Given the description of an element on the screen output the (x, y) to click on. 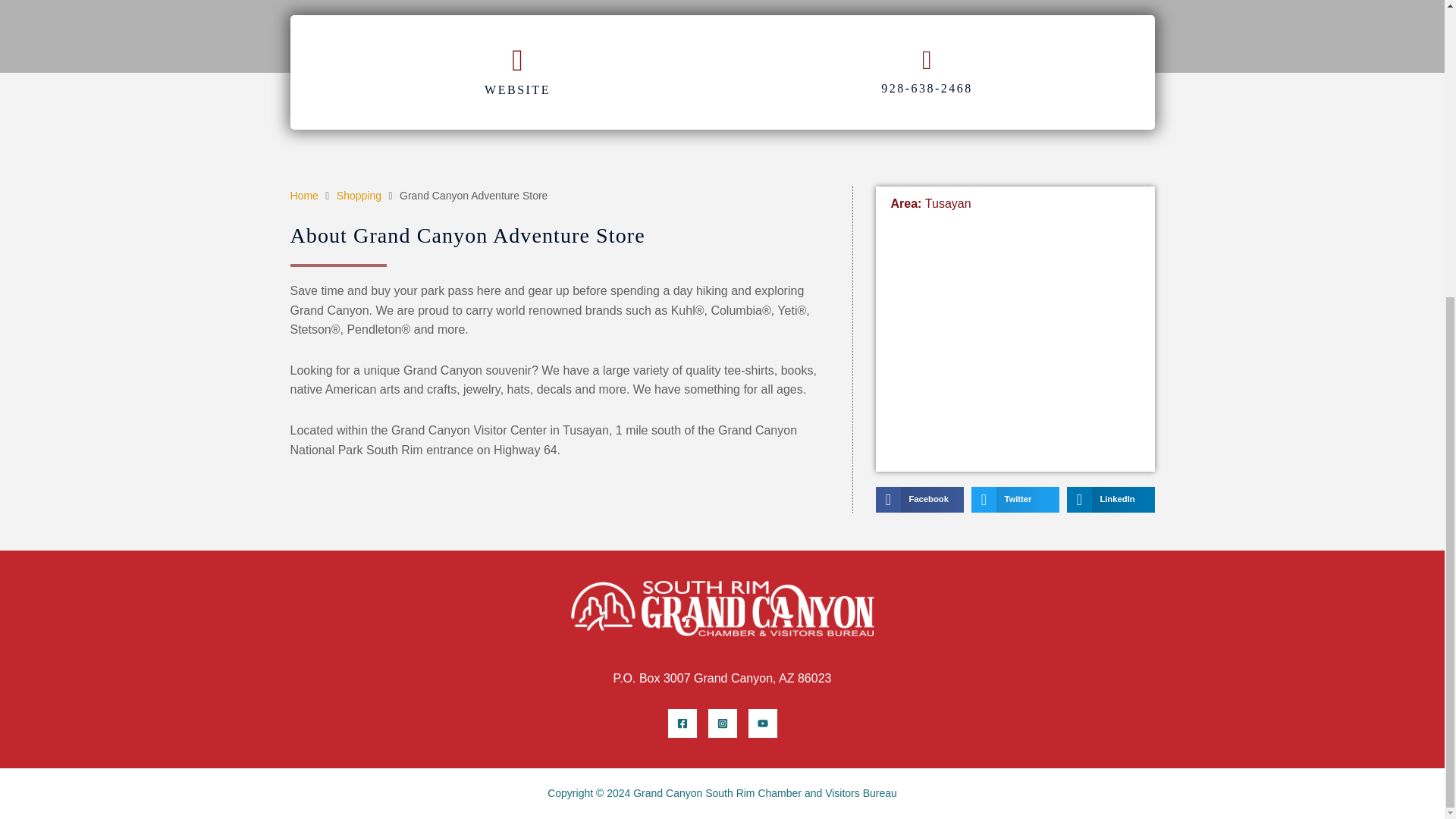
Shopping (358, 196)
450 State Route 64 Grand Canyon AZ, 86023 (1013, 342)
Home (303, 196)
WEBSITE (517, 89)
Home (303, 196)
Shopping (358, 196)
